Given the description of an element on the screen output the (x, y) to click on. 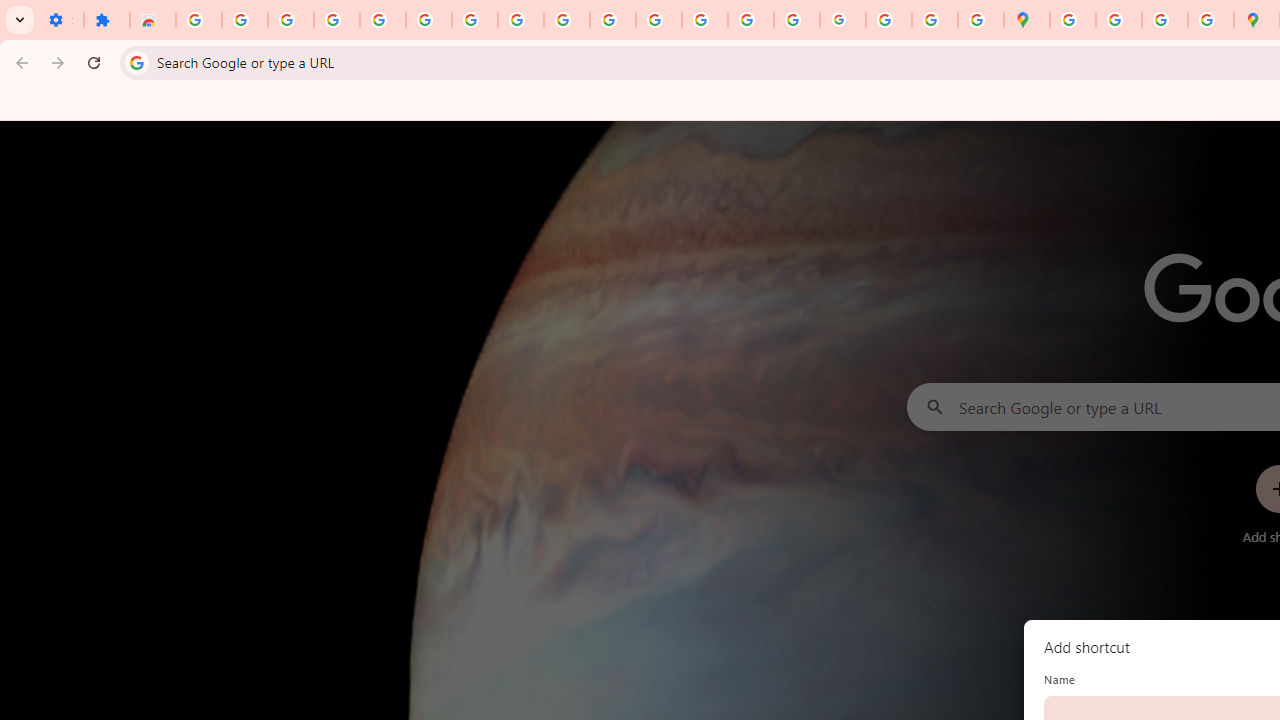
Google Account (520, 20)
Sign in - Google Accounts (428, 20)
Safety in Our Products - Google Safety Center (1210, 20)
Settings - On startup (60, 20)
YouTube (567, 20)
Extensions (107, 20)
